Given the description of an element on the screen output the (x, y) to click on. 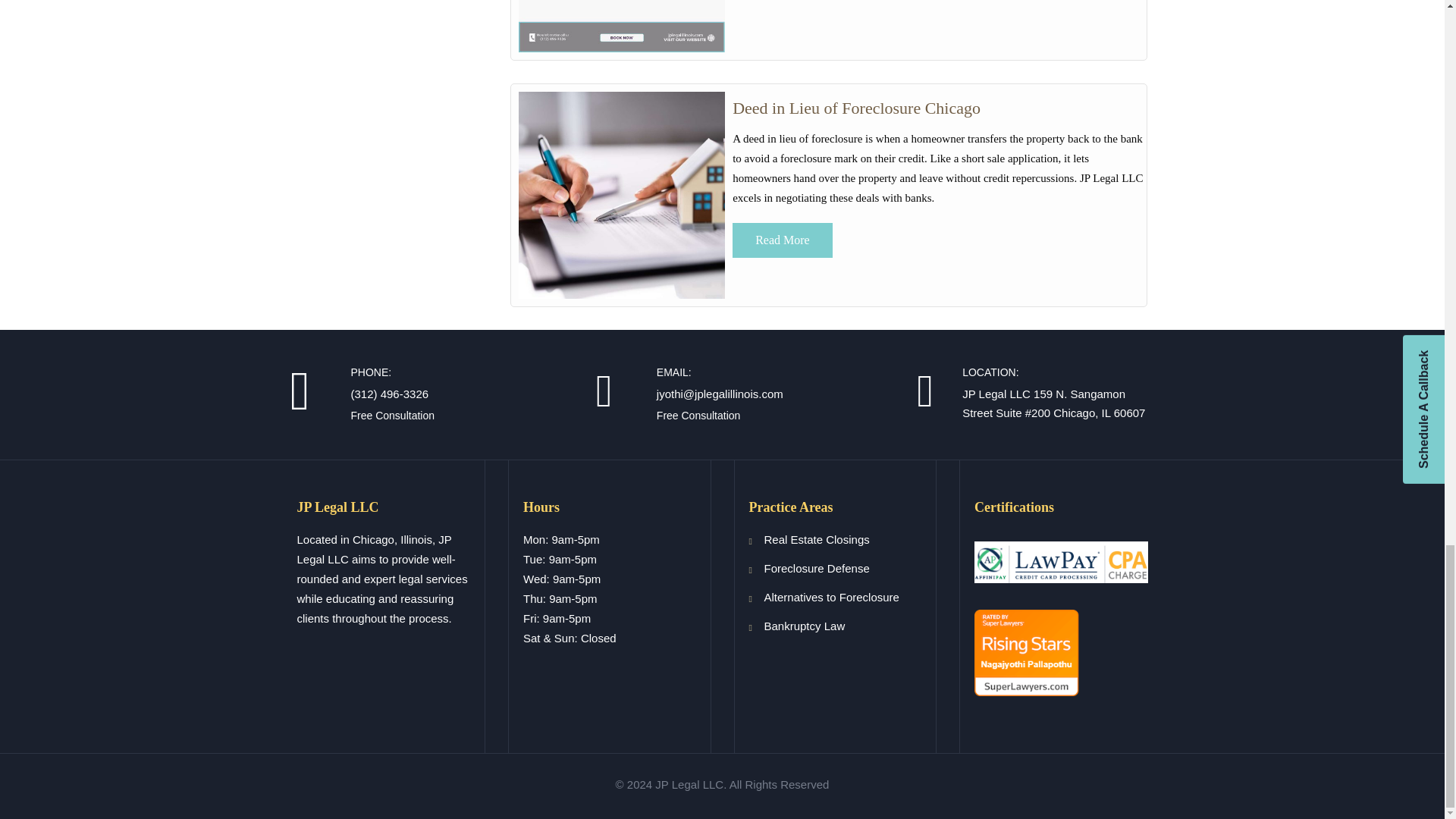
service-jp-legal-illinois-5 (621, 26)
Deed in Lieu of Foreclosure Chicago (855, 107)
Bankruptcy Law (804, 625)
Real Estate Closings (816, 539)
Read More (782, 239)
Alternatives to Foreclosure (831, 596)
Foreclosure Defense (816, 567)
Alternatives to Foreclosure Chicago IL (855, 107)
